Given the description of an element on the screen output the (x, y) to click on. 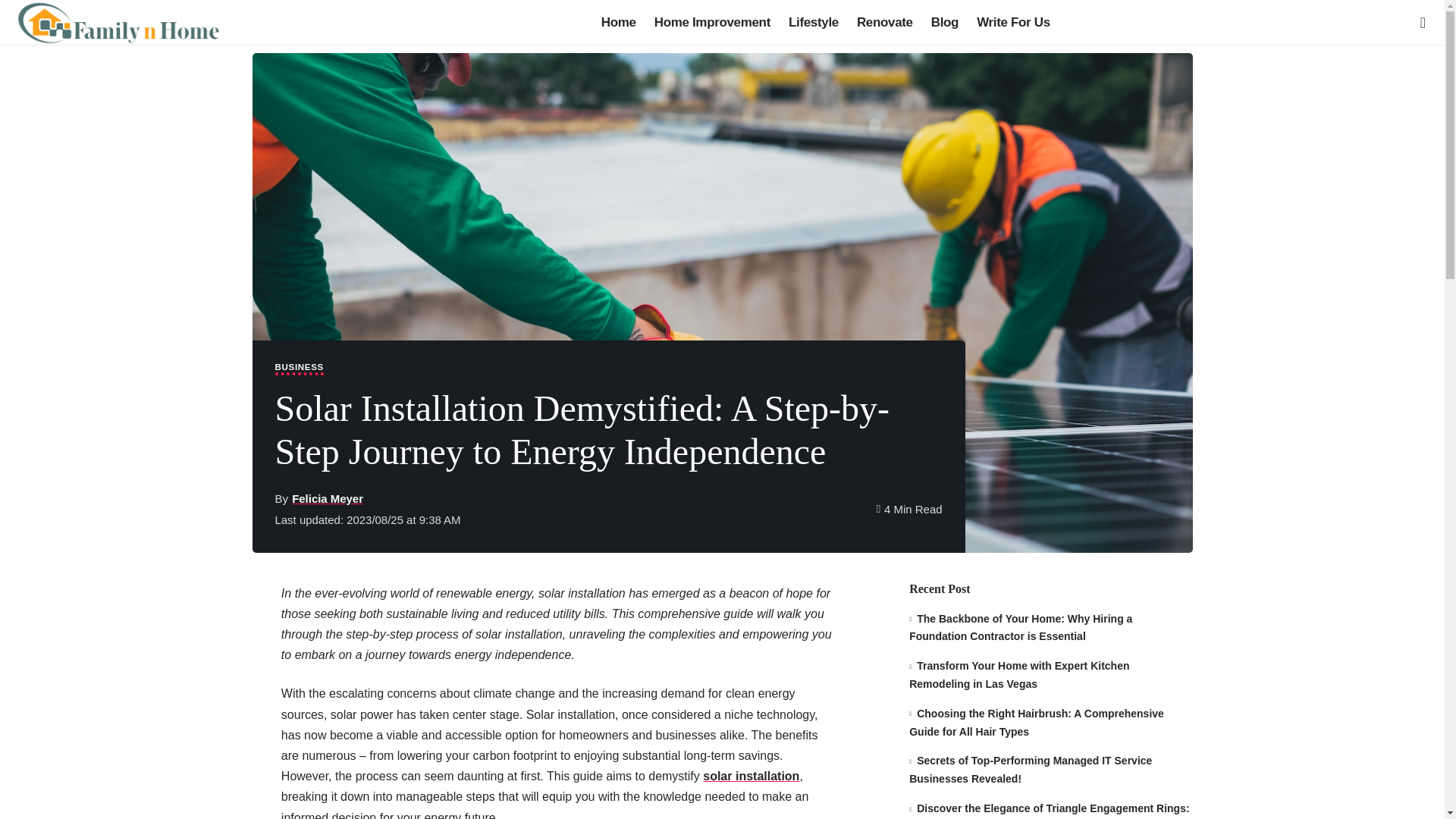
Lifestyle (812, 22)
Family N Home (116, 22)
Home (618, 22)
Felicia Meyer (327, 497)
Renovate (884, 22)
Write For Us (1013, 22)
BUSINESS (299, 369)
solar installation (751, 775)
Blog (944, 22)
Home Improvement (711, 22)
